Given the description of an element on the screen output the (x, y) to click on. 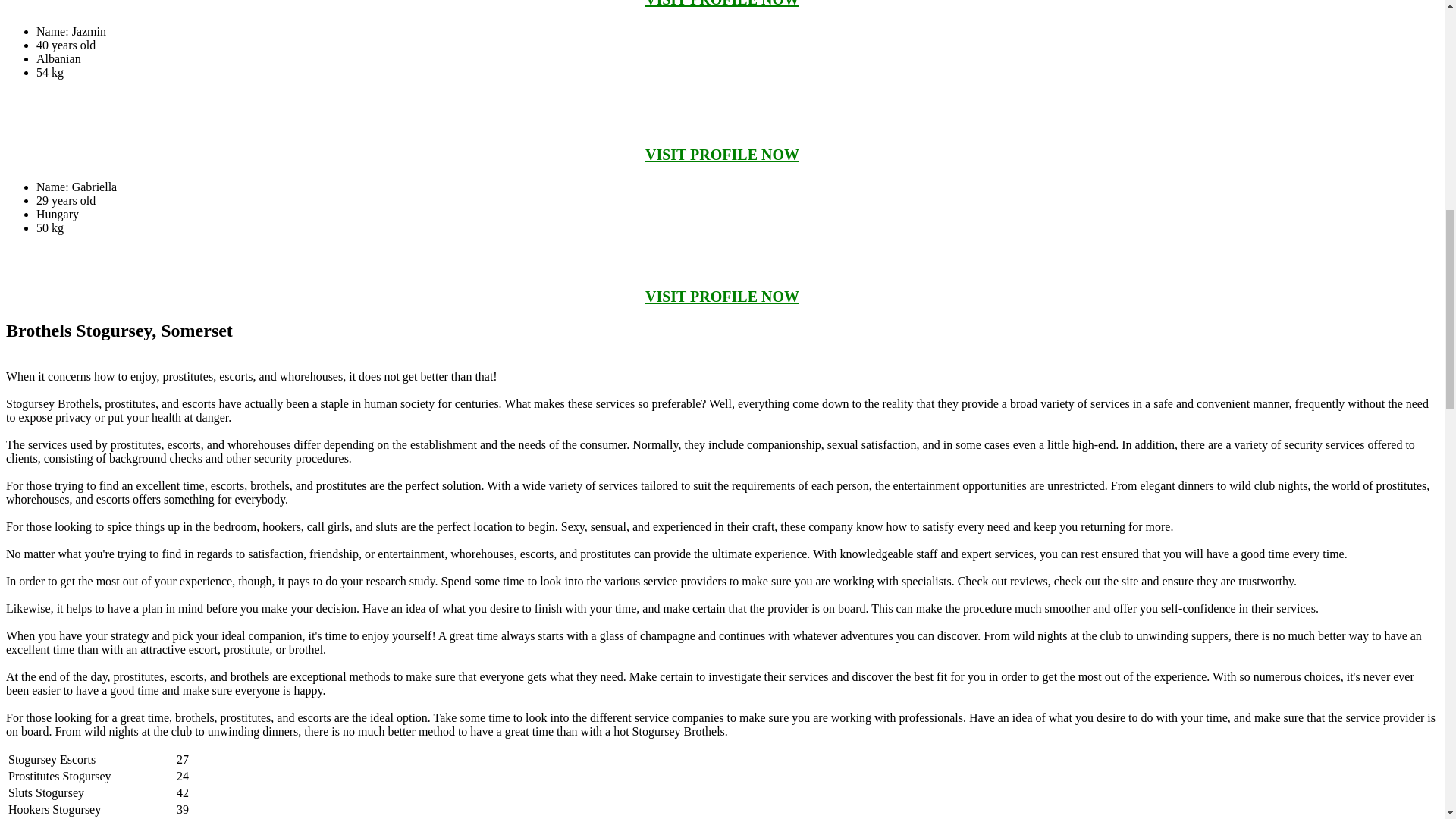
VISIT PROFILE NOW (722, 154)
VISIT PROFILE NOW (722, 296)
VISIT PROFILE NOW (722, 3)
